Given the description of an element on the screen output the (x, y) to click on. 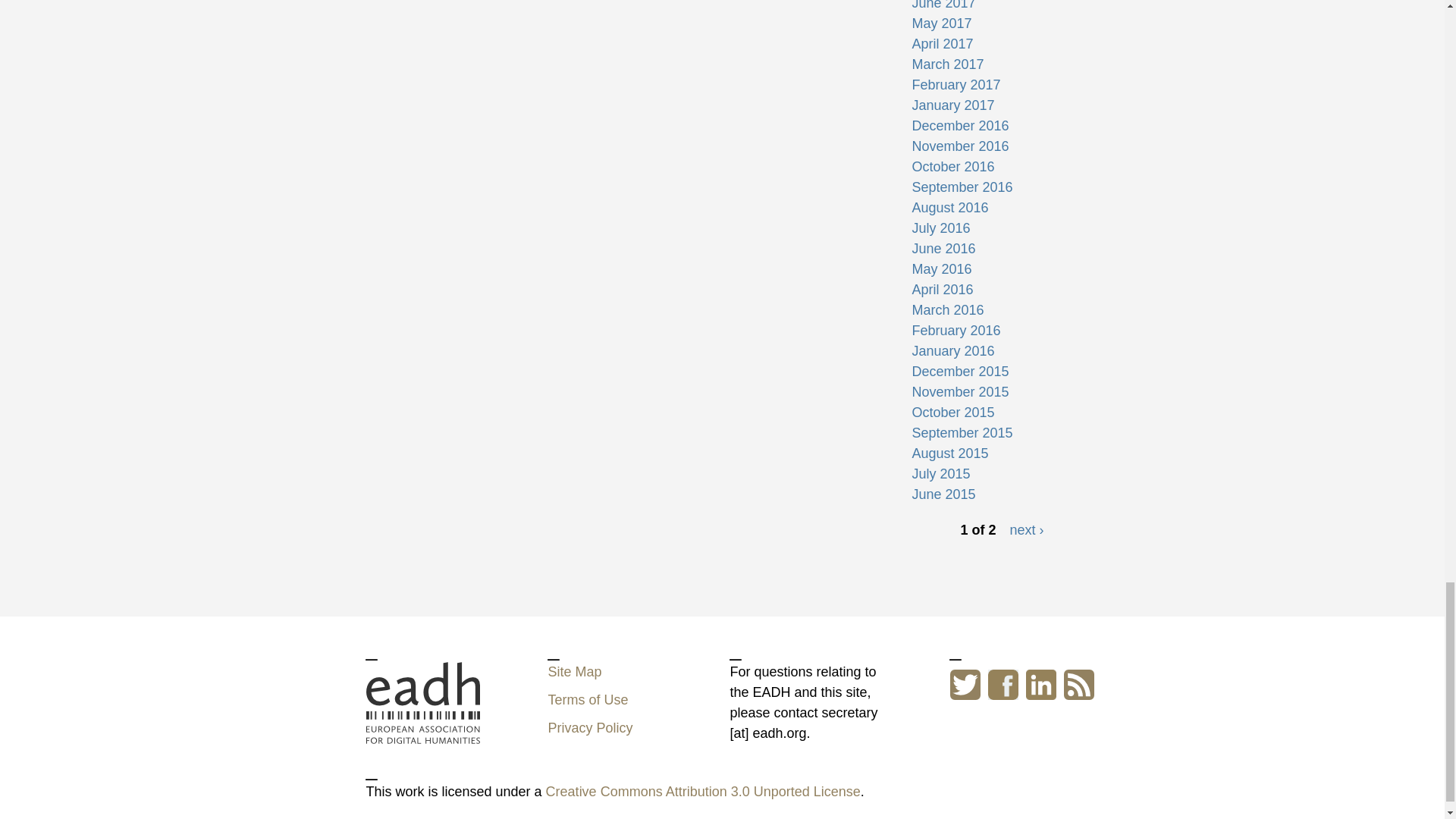
Go to next page (1026, 529)
EADH - European Association for Digital Humanities (422, 733)
EADH - European Association for Digital Humanities (422, 702)
